Given the description of an element on the screen output the (x, y) to click on. 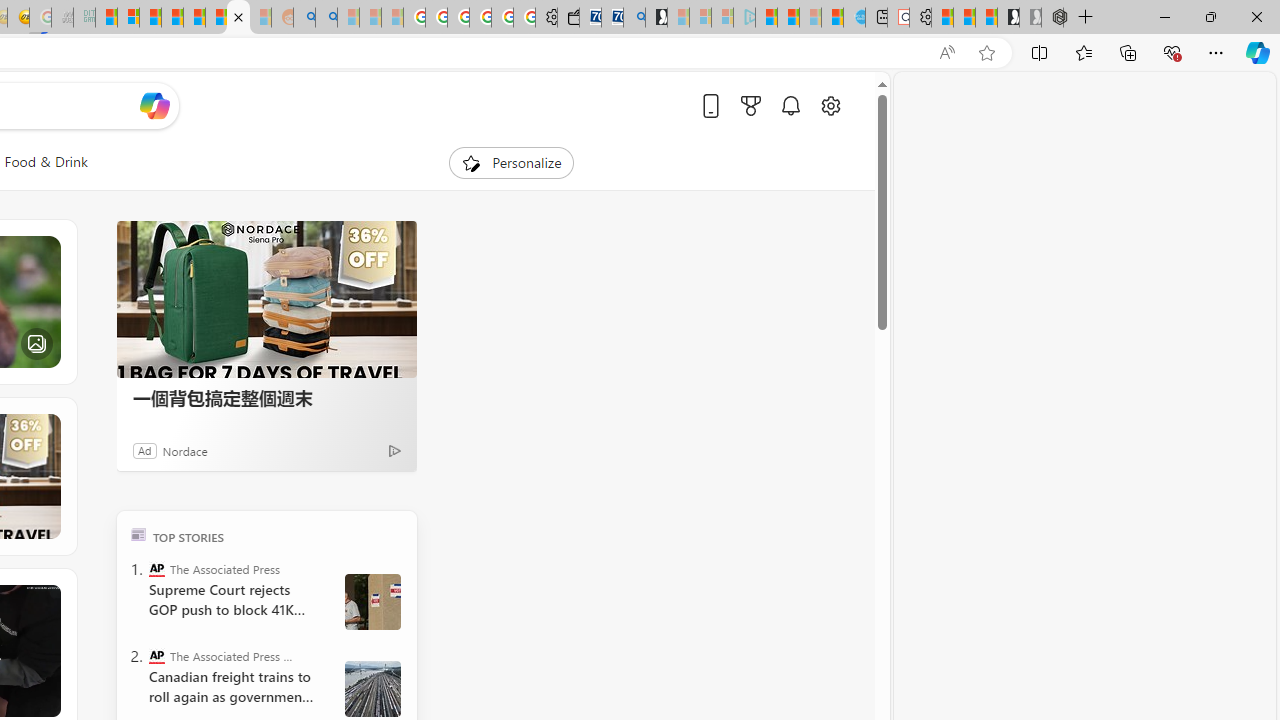
Food & Drink (45, 162)
The Associated Press - Business News (156, 655)
Kinda Frugal - MSN (216, 17)
 Canada Railroads Unions (372, 688)
Open Copilot (155, 105)
Bing Real Estate - Home sales and rental listings (634, 17)
Microsoft Start (766, 17)
New tab (876, 17)
